Given the description of an element on the screen output the (x, y) to click on. 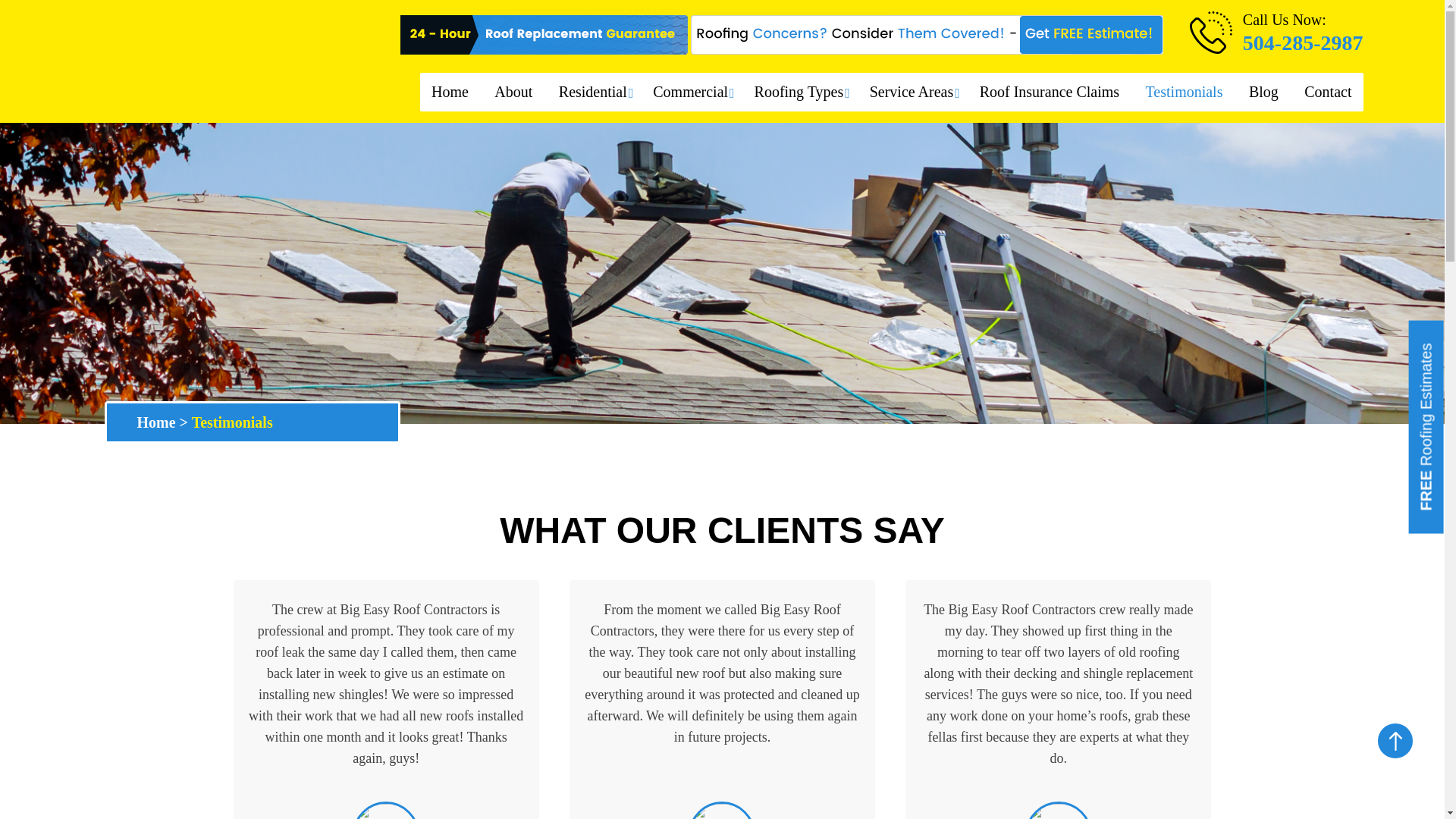
Untitled (721, 811)
Untitled (385, 811)
Untitled (1058, 811)
Roofing Types (799, 91)
Home (449, 91)
About (513, 91)
Residential (593, 91)
Commercial (690, 91)
logo (191, 61)
504-285-2987 (1302, 42)
